Given the description of an element on the screen output the (x, y) to click on. 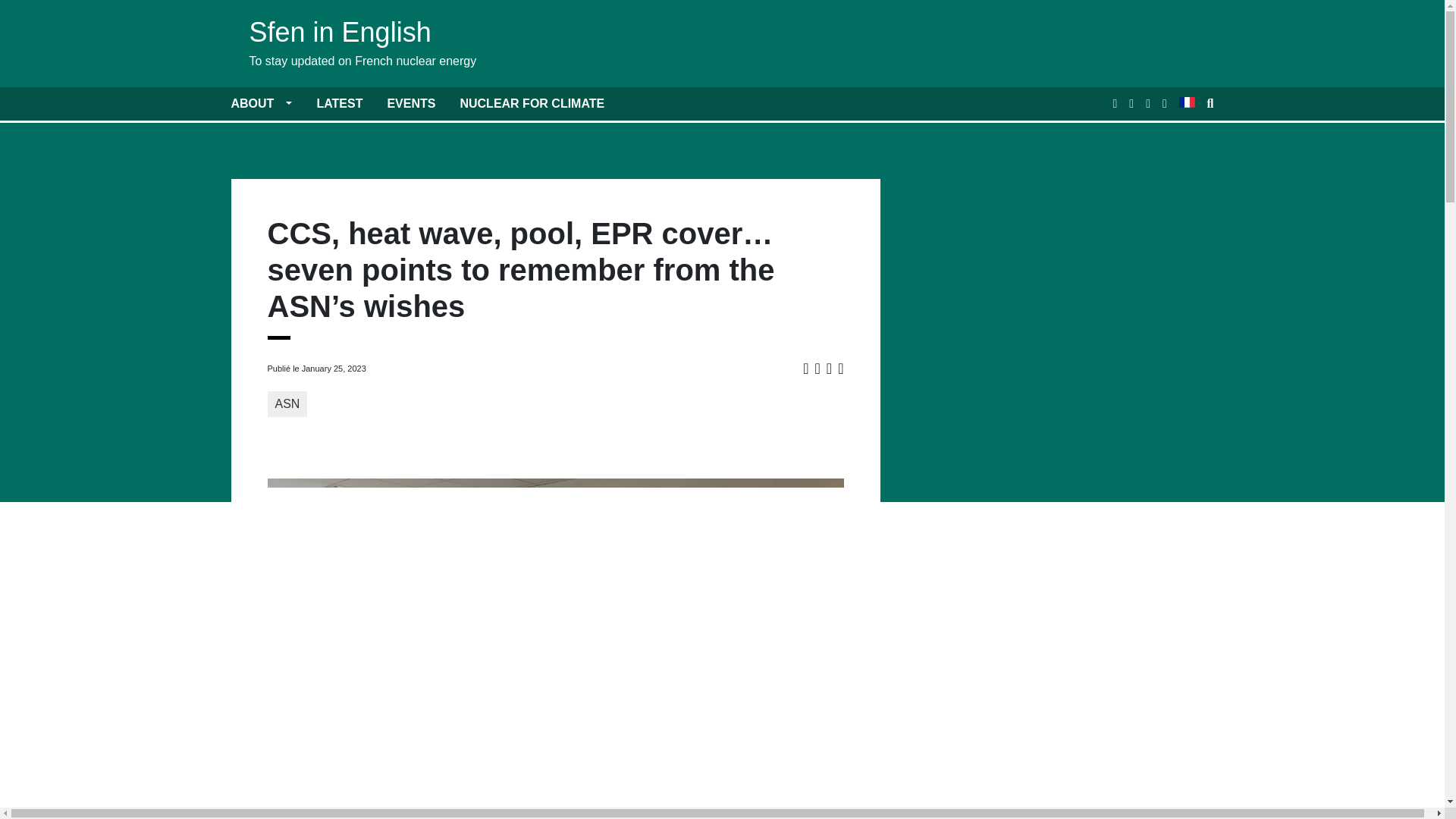
NUCLEAR FOR CLIMATE (532, 103)
EVENTS (411, 103)
ABOUT (261, 103)
LATEST (338, 103)
Sfen in English (362, 32)
ASN (286, 403)
